Given the description of an element on the screen output the (x, y) to click on. 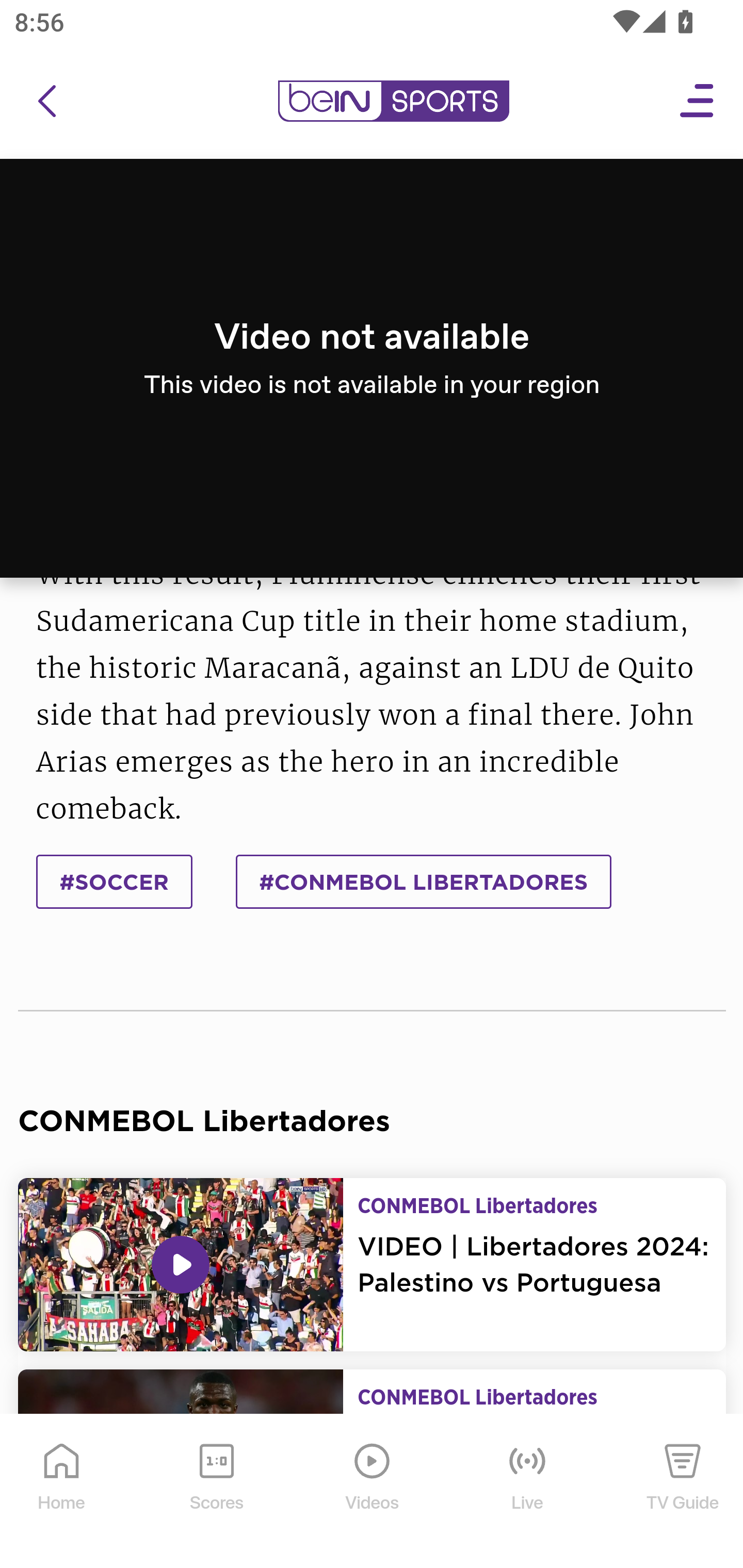
en-us?platform=mobile_android bein logo (392, 101)
icon back (46, 101)
Open Menu Icon (697, 101)
#Soccer (114, 880)
#CONMEBOL Libertadores (423, 880)
Home Home Icon Home (61, 1491)
Scores Scores Icon Scores (216, 1491)
Videos Videos Icon Videos (372, 1491)
TV Guide TV Guide Icon TV Guide (682, 1491)
